Given the description of an element on the screen output the (x, y) to click on. 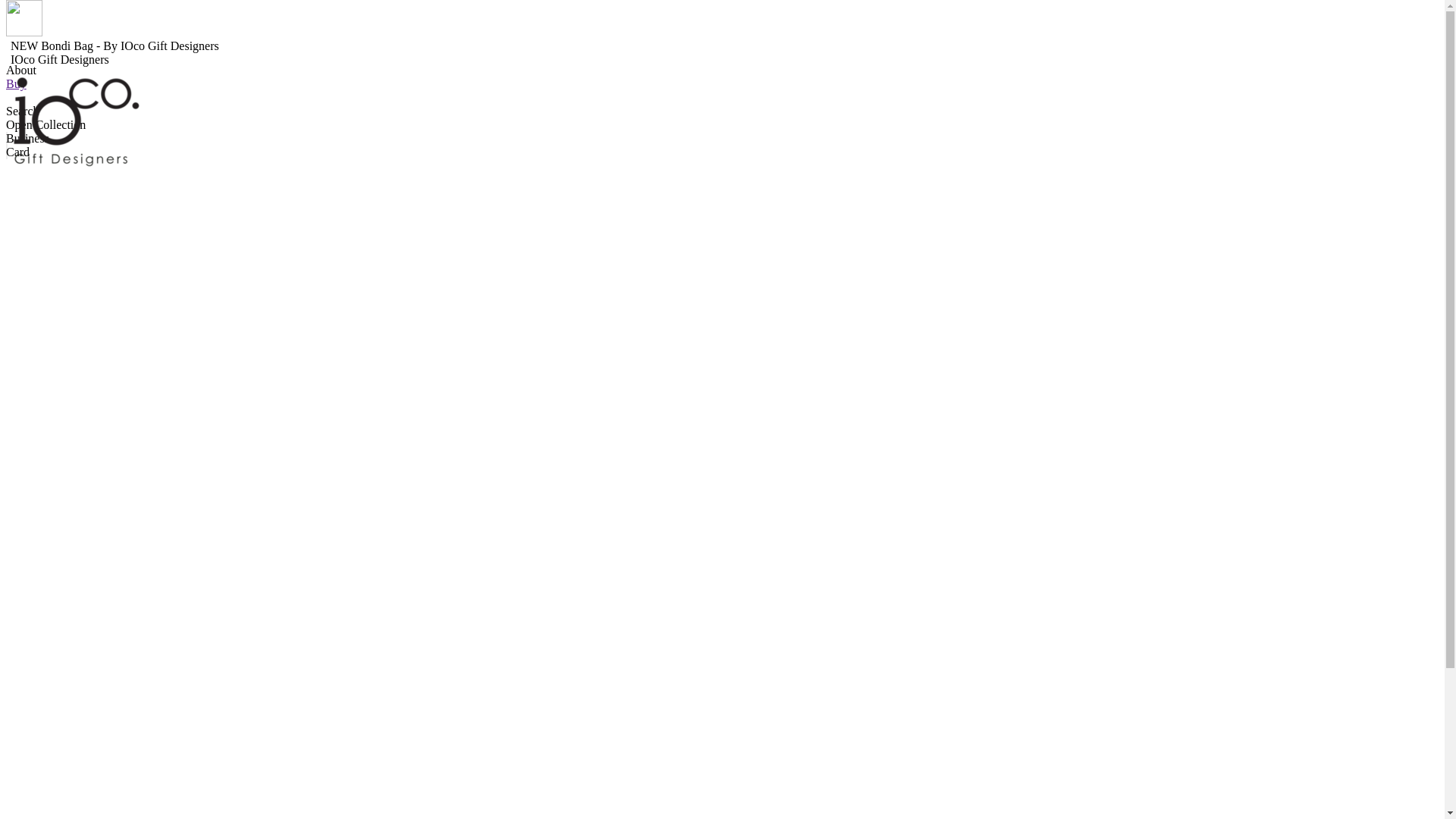
About Element type: text (21, 69)
Business Card Element type: text (27, 144)
Search Element type: text (22, 110)
Open Collection Element type: text (45, 124)
Buy Element type: text (16, 83)
